Given the description of an element on the screen output the (x, y) to click on. 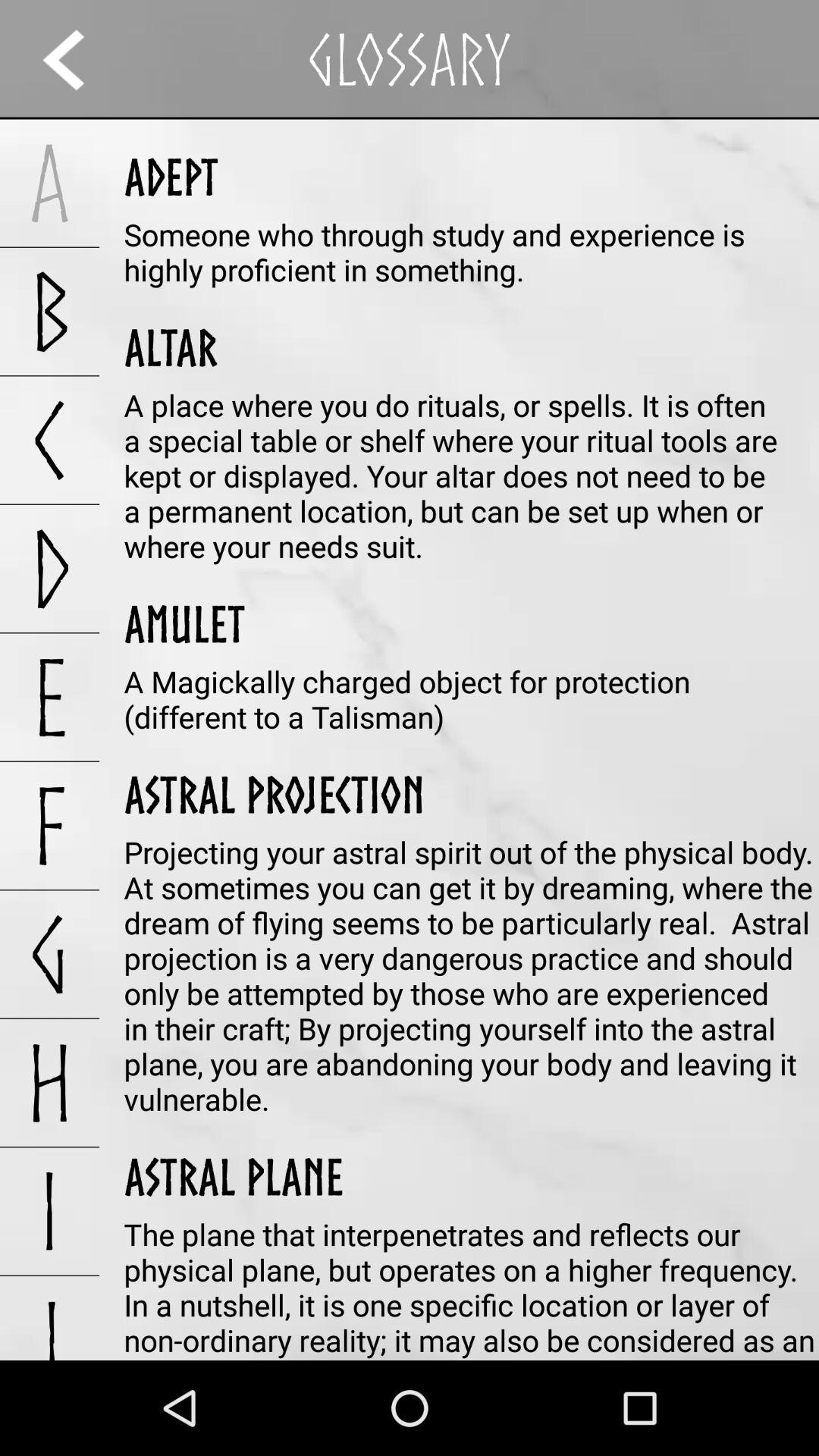
launch the app below projecting your astral icon (233, 1176)
